Given the description of an element on the screen output the (x, y) to click on. 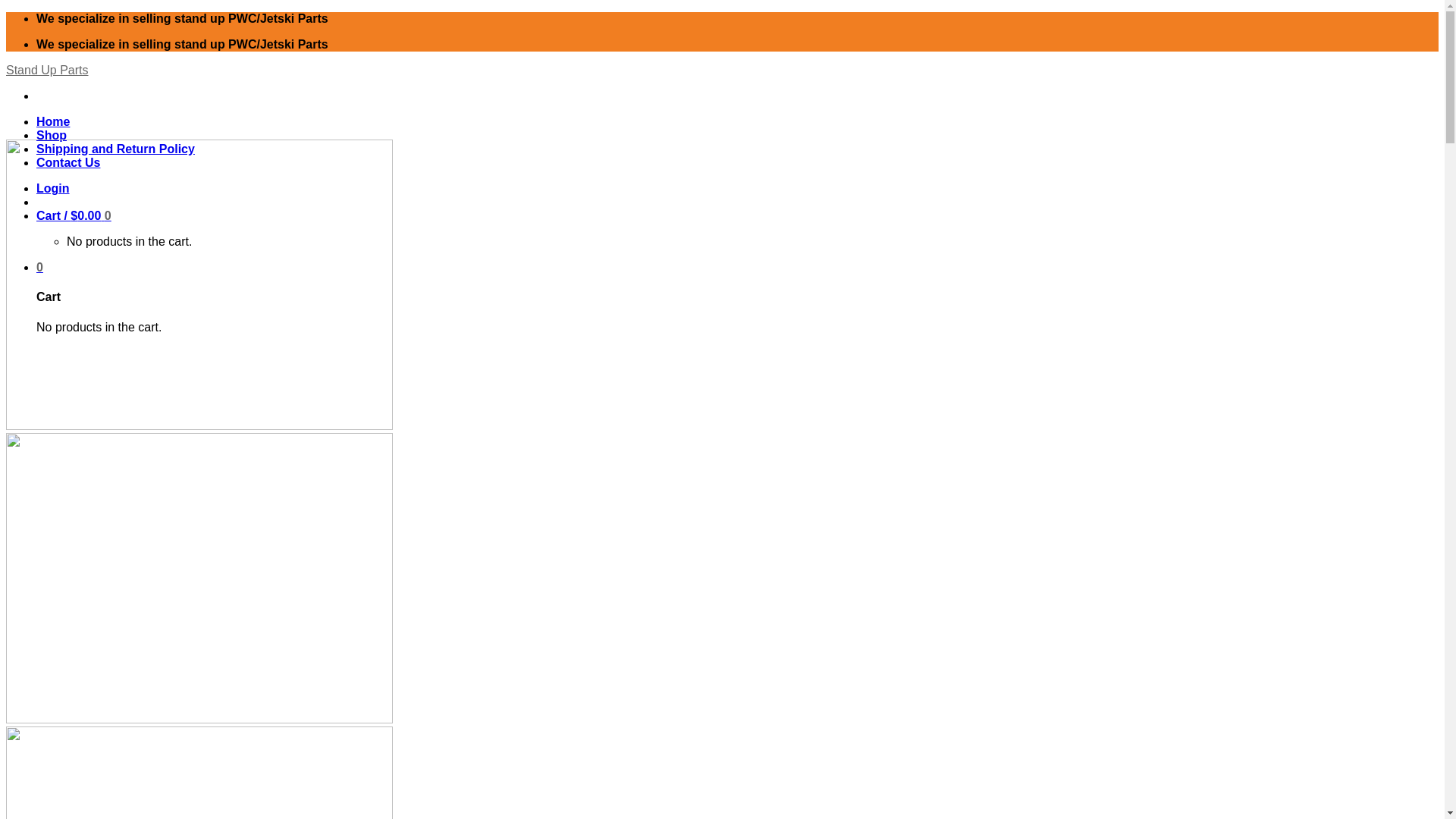
Stand Up Parts - JetSki Parts Store (46, 69)
Home (52, 121)
Cart (74, 215)
Shipping and Return Policy (115, 148)
Shop (51, 134)
Stand Up Parts (46, 69)
Contact Us (68, 162)
Login (52, 187)
